Given the description of an element on the screen output the (x, y) to click on. 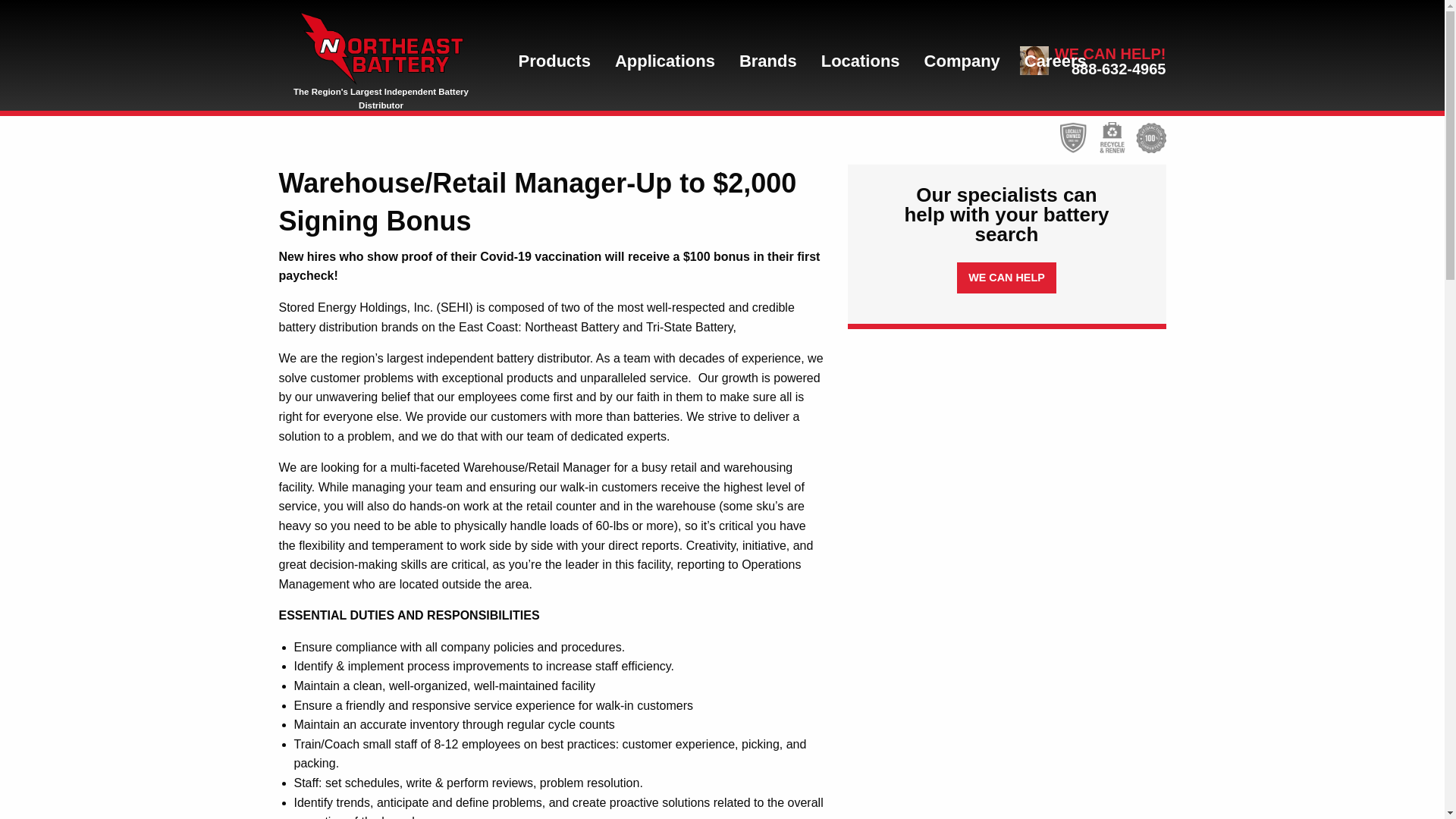
Careers (1055, 61)
Company (961, 61)
Products (554, 61)
Brands (767, 61)
WE CAN HELP (1006, 277)
Locations (860, 61)
Applications (664, 61)
